Given the description of an element on the screen output the (x, y) to click on. 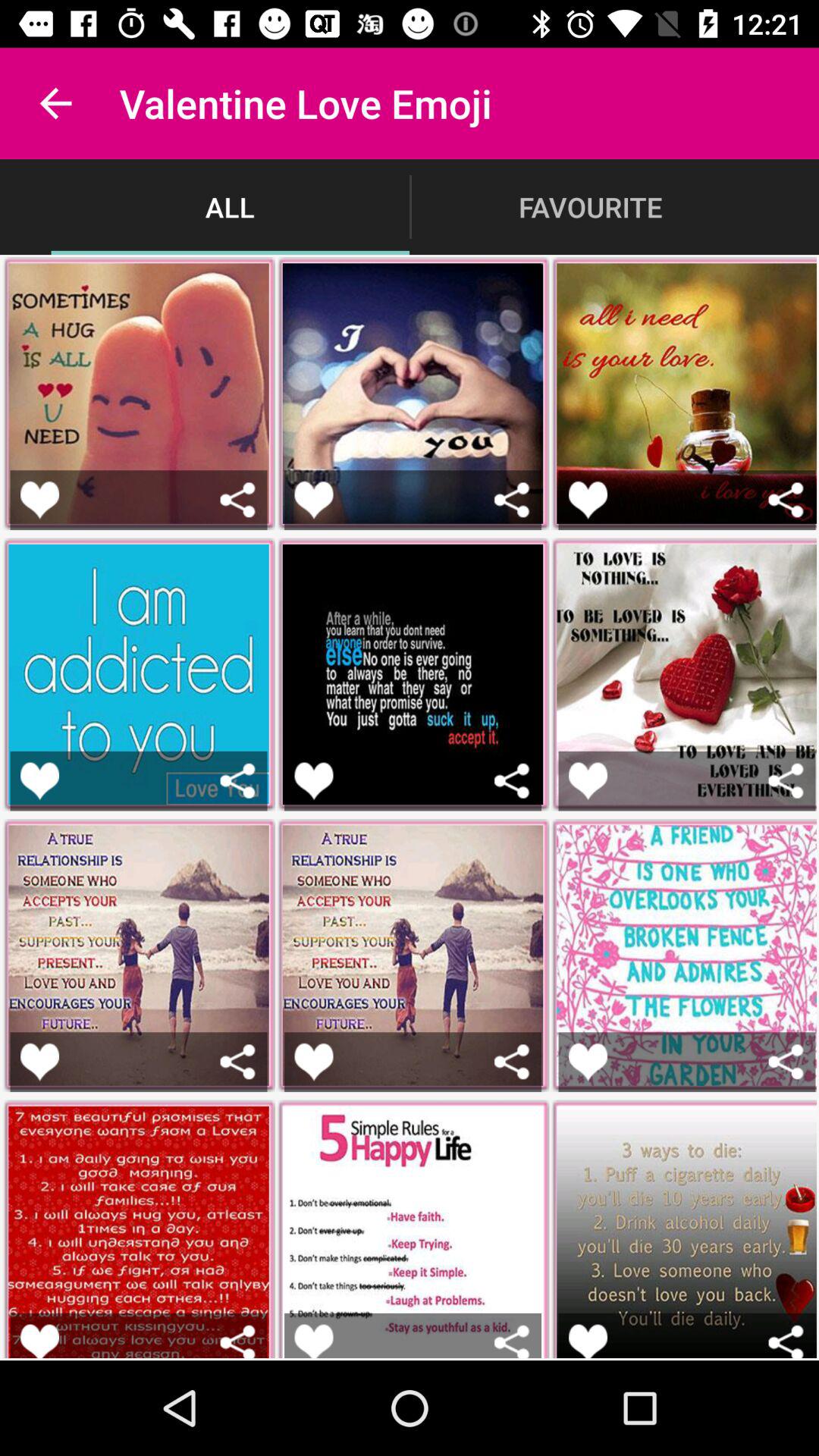
share the image (511, 1061)
